Given the description of an element on the screen output the (x, y) to click on. 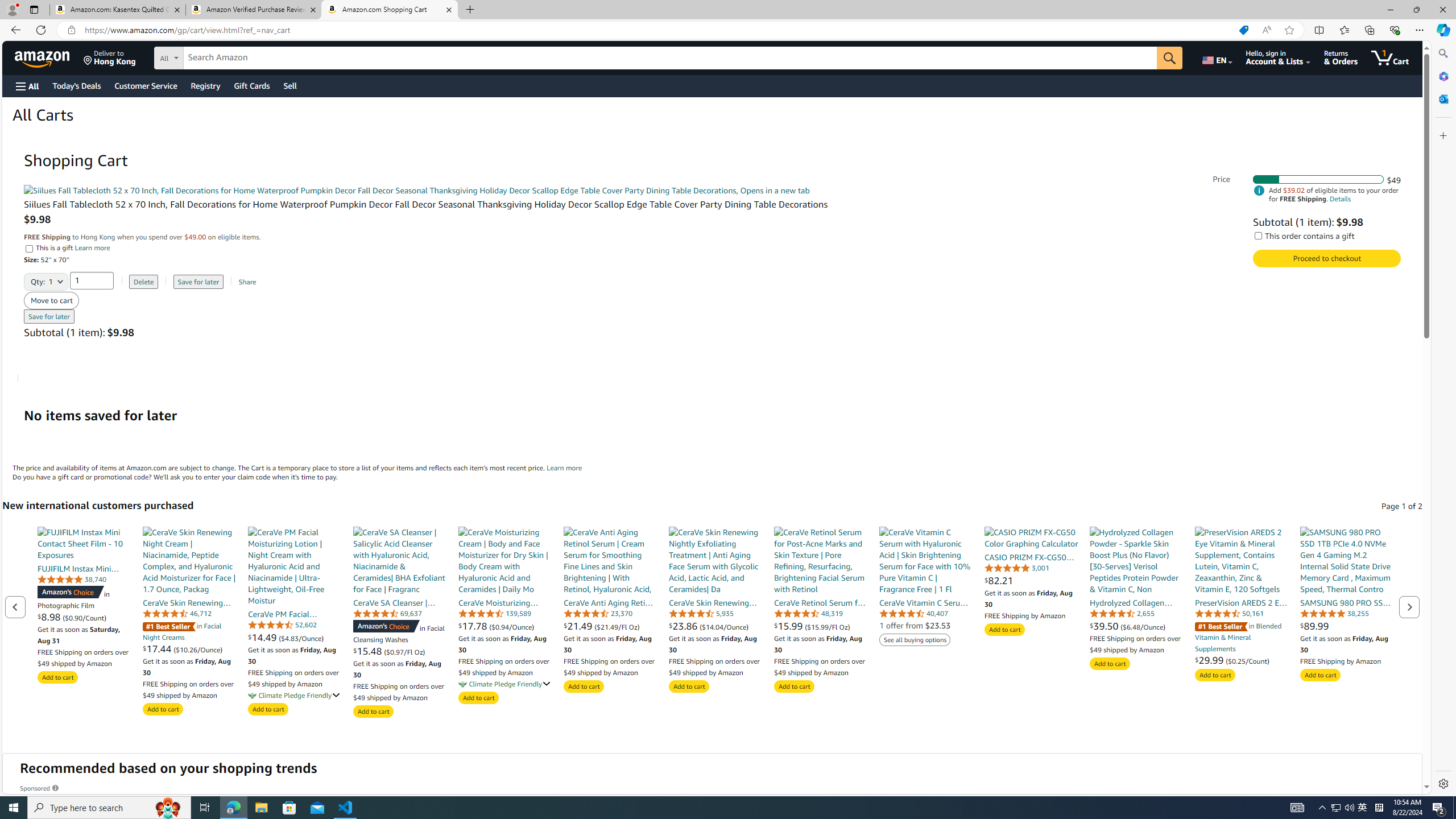
Choose a language for shopping. (1216, 57)
FUJIFILM Instax Mini Contact Sheet Film - 10 Exposures (84, 543)
($21.49/Fl Oz) (616, 626)
$82.21 (1031, 580)
1 item in cart (1389, 57)
This order contains a gift (1258, 235)
